Given the description of an element on the screen output the (x, y) to click on. 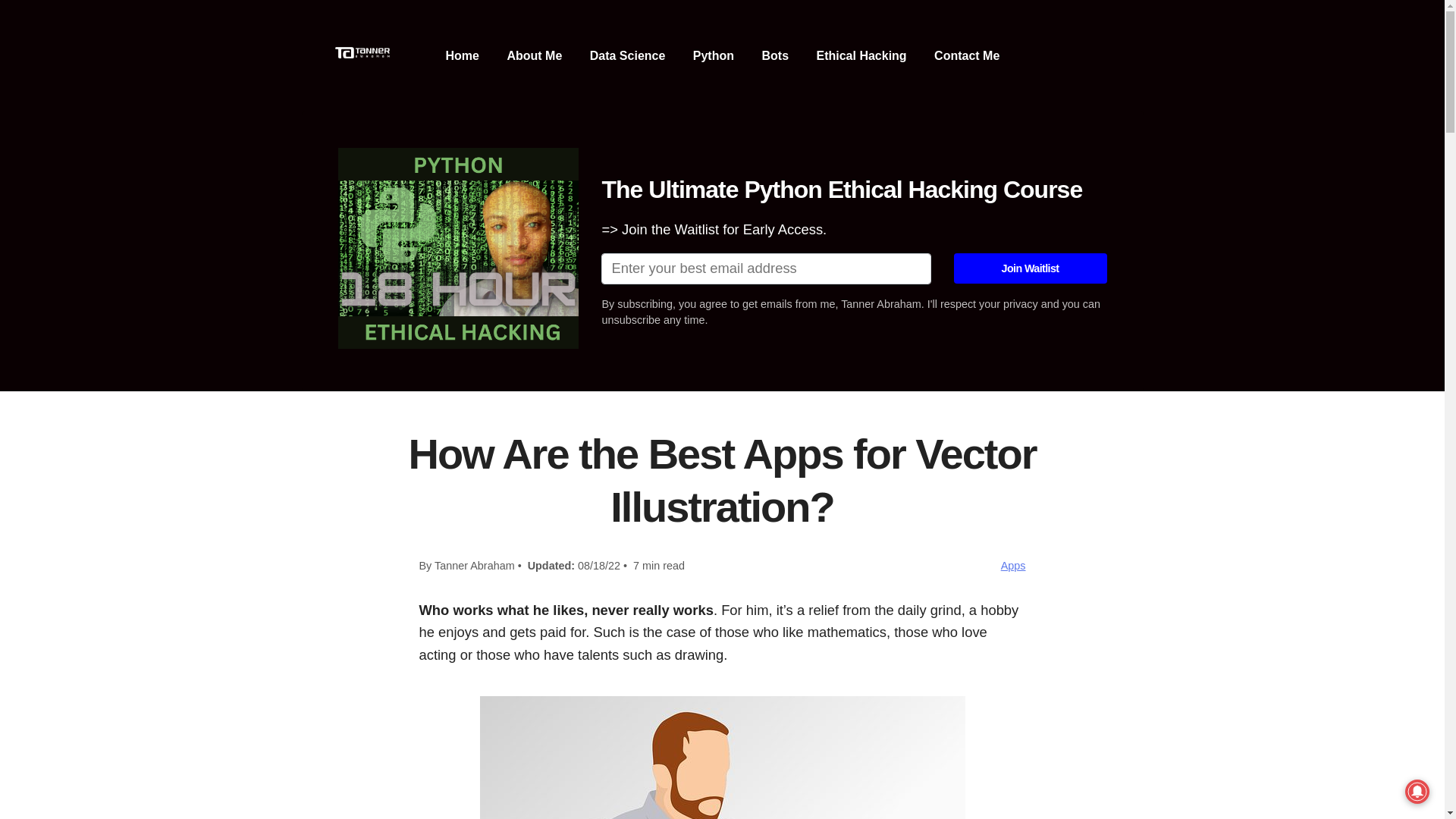
Data Science (627, 55)
Join Waitlist (1029, 268)
Python (713, 55)
Ethical Hacking (860, 55)
Bots (775, 55)
Home (462, 55)
About Me (534, 55)
Contact Me (966, 55)
Apps (1013, 565)
